Given the description of an element on the screen output the (x, y) to click on. 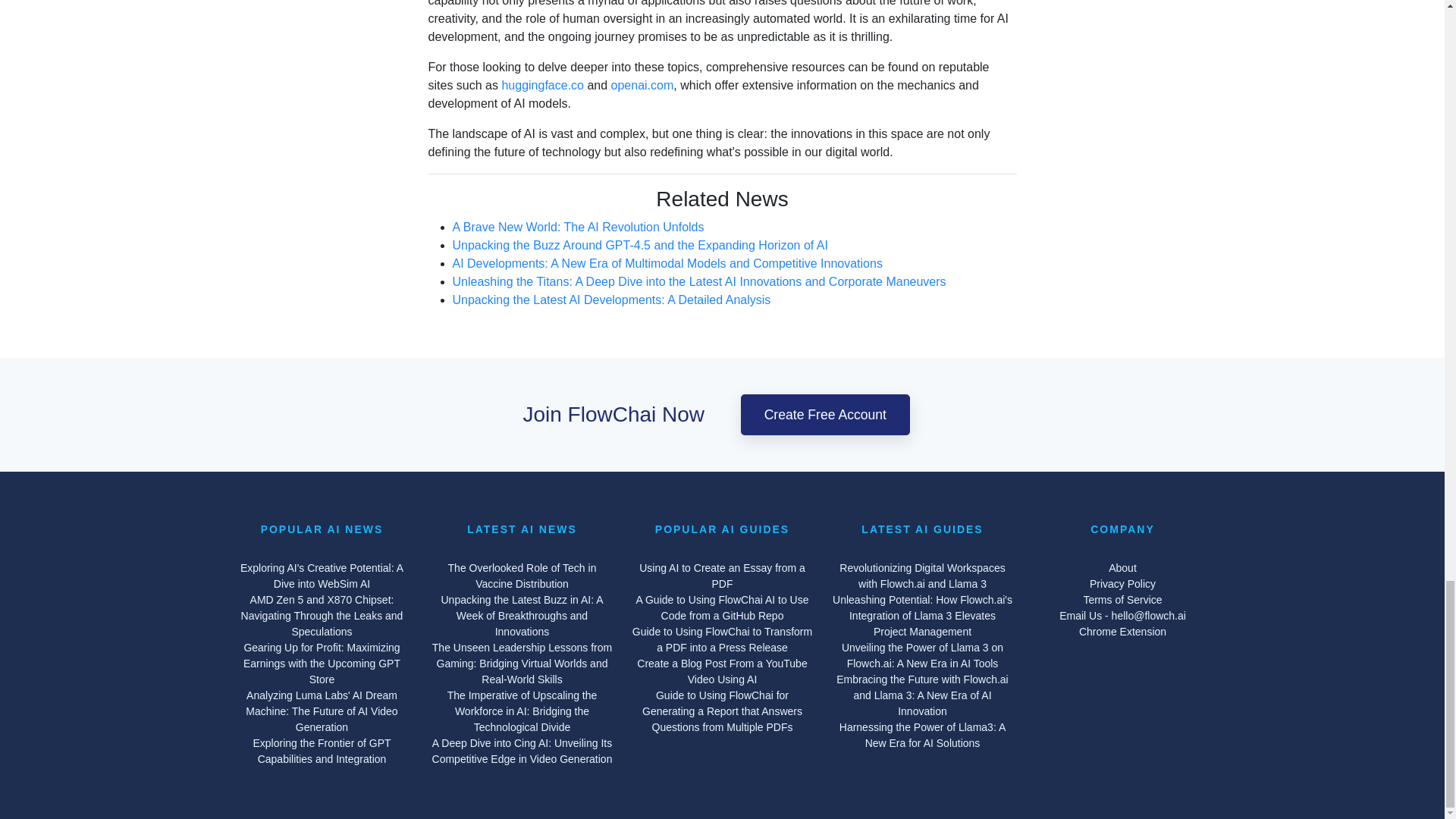
Chrome Extension (1121, 631)
Privacy Policy (1121, 584)
A Brave New World: The AI Revolution Unfolds (577, 254)
huggingface.co (541, 120)
Unpacking the Latest AI Developments: A Detailed Analysis (610, 315)
